Given the description of an element on the screen output the (x, y) to click on. 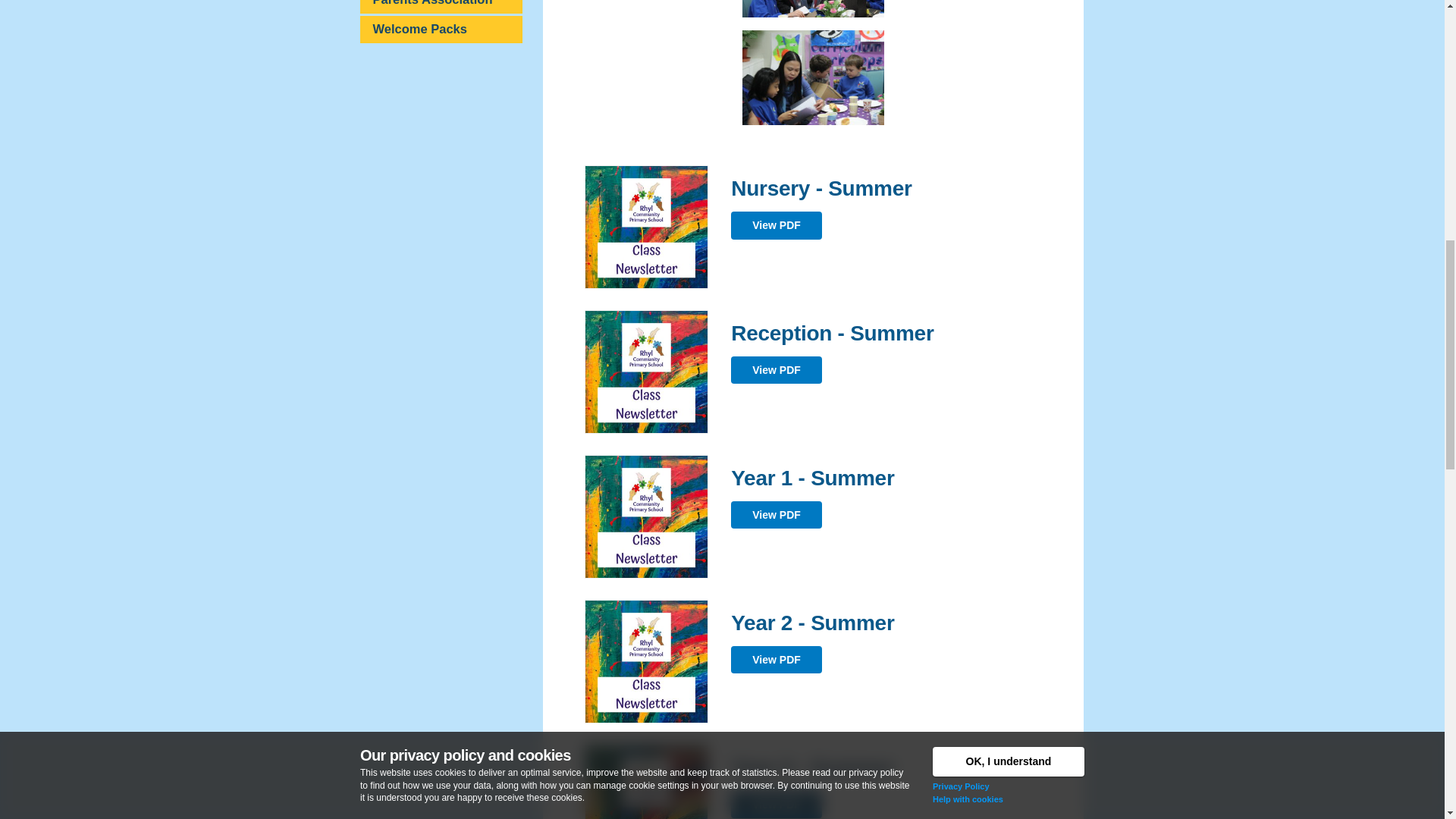
View PDF (776, 225)
Welcome Packs (440, 29)
Parents Association (440, 6)
